Given the description of an element on the screen output the (x, y) to click on. 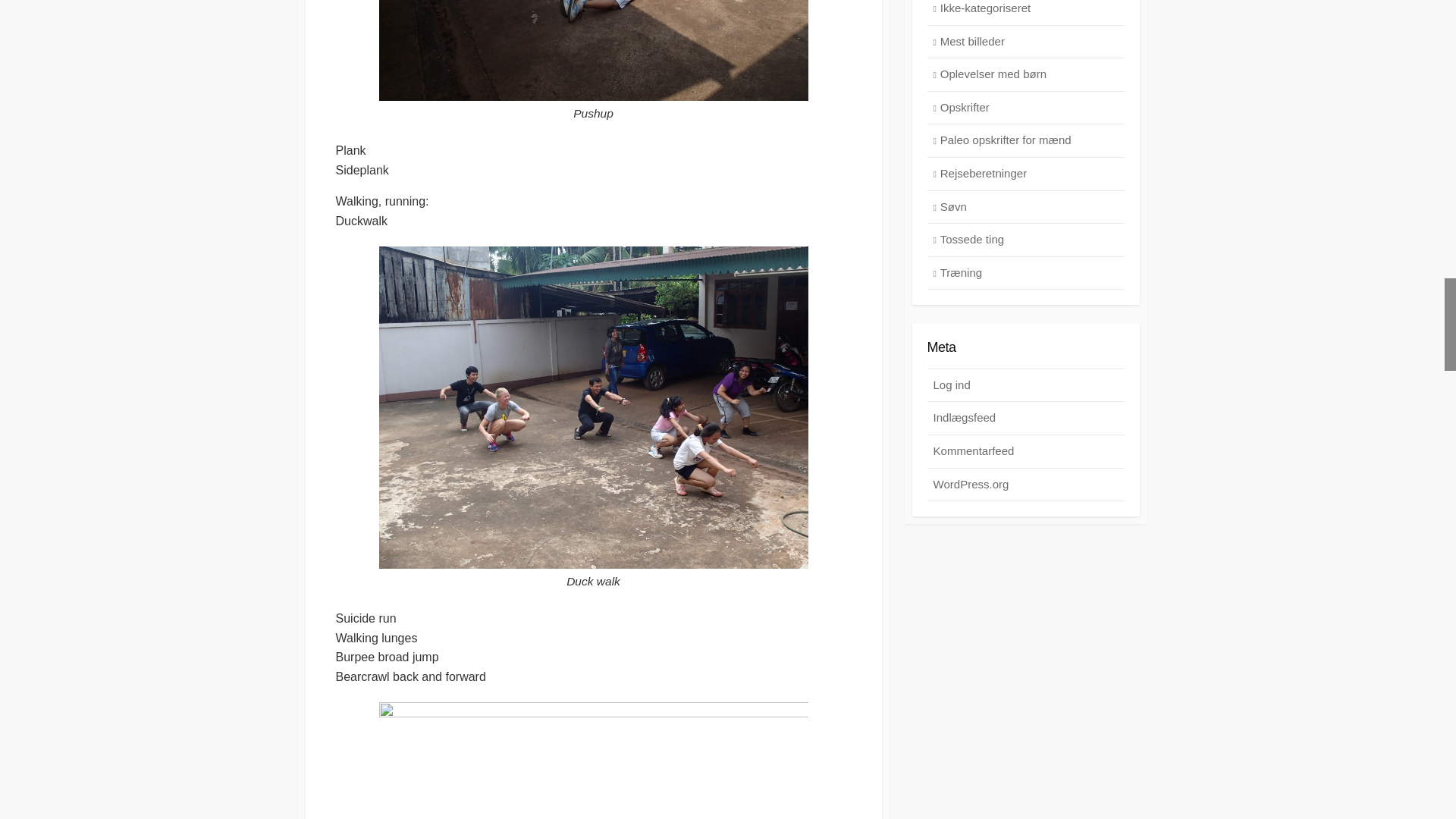
Pushup (593, 50)
Bear crawl (593, 760)
